Given the description of an element on the screen output the (x, y) to click on. 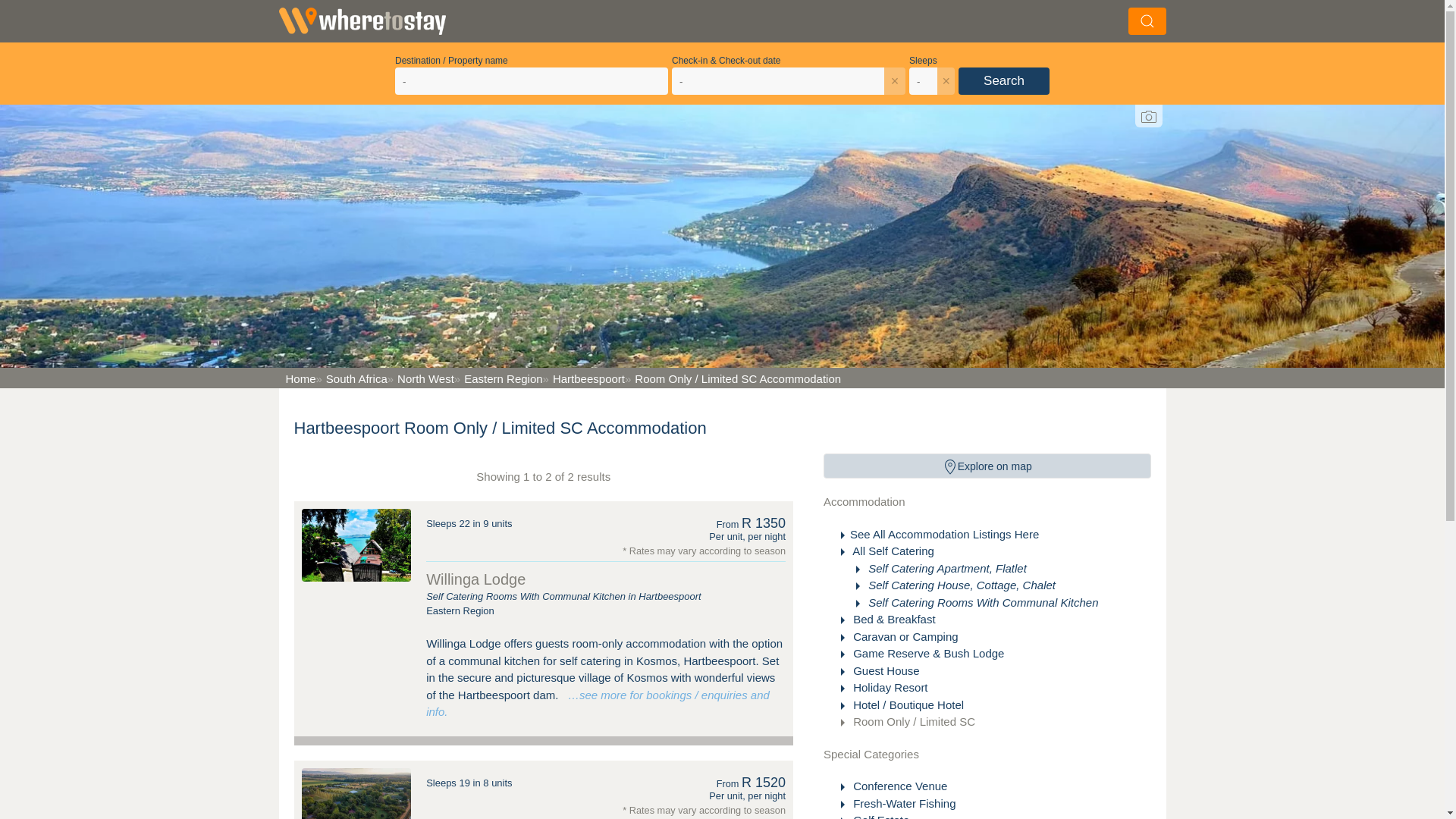
Search (1003, 81)
Guest House (885, 670)
Conference Venue (898, 785)
Sleeps 22 in 9 units (469, 523)
Explore on map (987, 465)
North West (420, 378)
All Self Catering (892, 550)
Holiday Resort (889, 686)
Willinga Lodge (475, 579)
Self Catering Rooms With Communal Kitchen (981, 602)
Self Catering House, Cottage, Chalet (959, 584)
Self Catering Apartment, Flatlet (945, 567)
Home (298, 378)
Willinga Lodge (356, 544)
Caravan or Camping (904, 635)
